Given the description of an element on the screen output the (x, y) to click on. 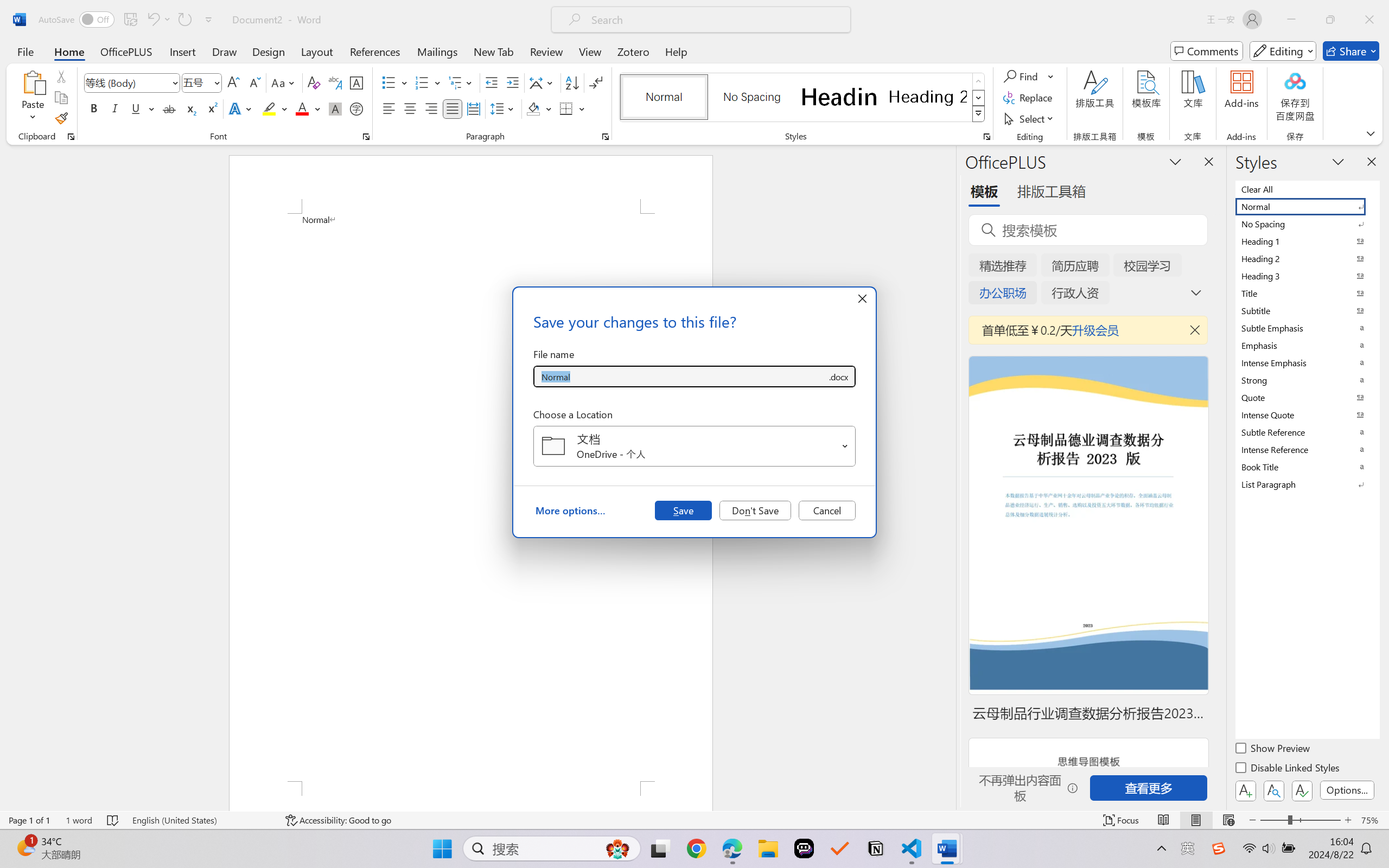
Change Case (284, 82)
New Tab (493, 51)
Strong (1306, 379)
Customize Quick Access Toolbar (208, 19)
Bold (94, 108)
Google Chrome (696, 848)
Class: MsoCommandBar (694, 819)
Row up (978, 81)
Mode (1283, 50)
Row Down (978, 97)
Print Layout (1196, 819)
Comments (1206, 50)
Heading 2 (927, 96)
